Given the description of an element on the screen output the (x, y) to click on. 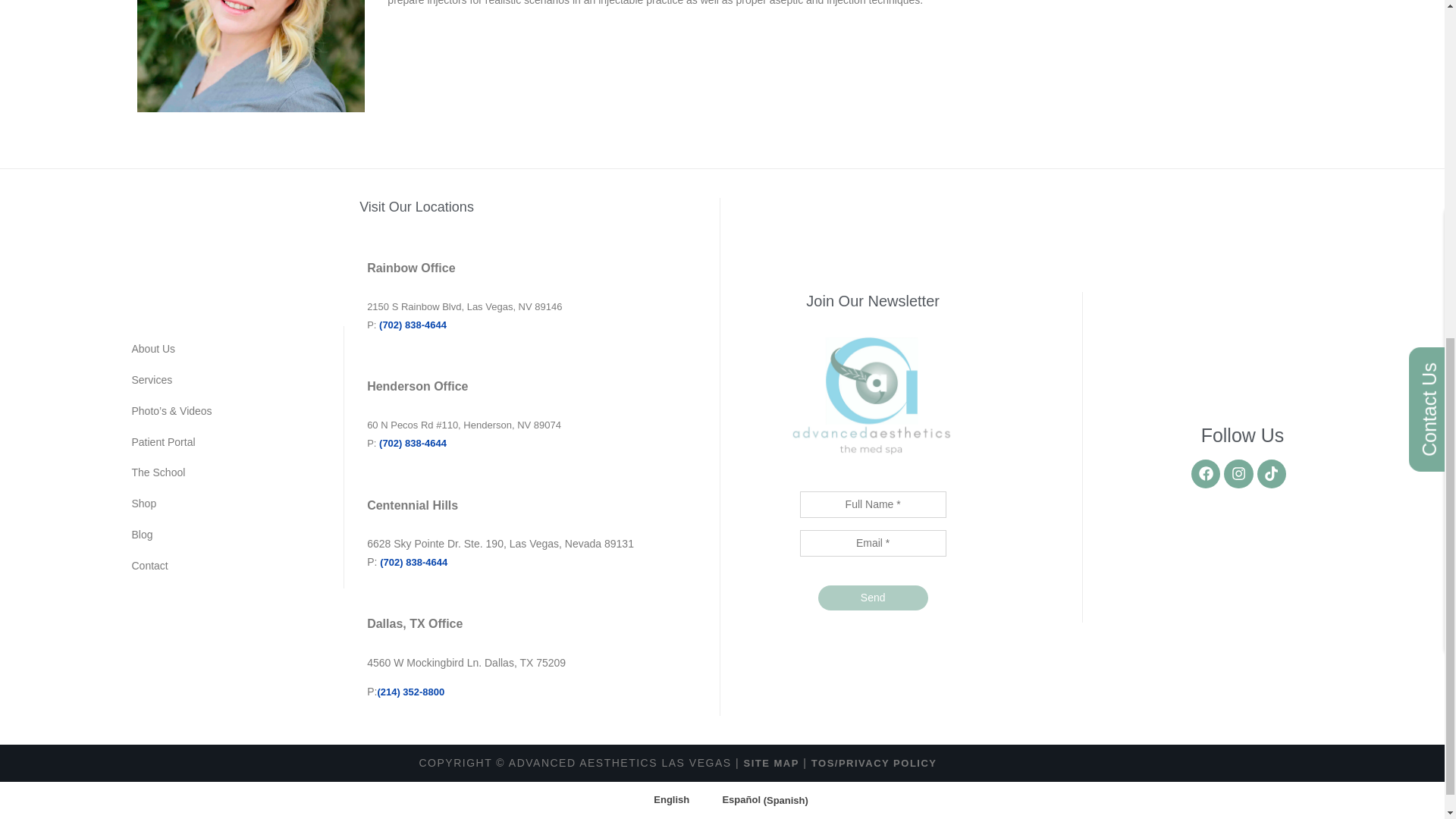
Send (873, 597)
